Given the description of an element on the screen output the (x, y) to click on. 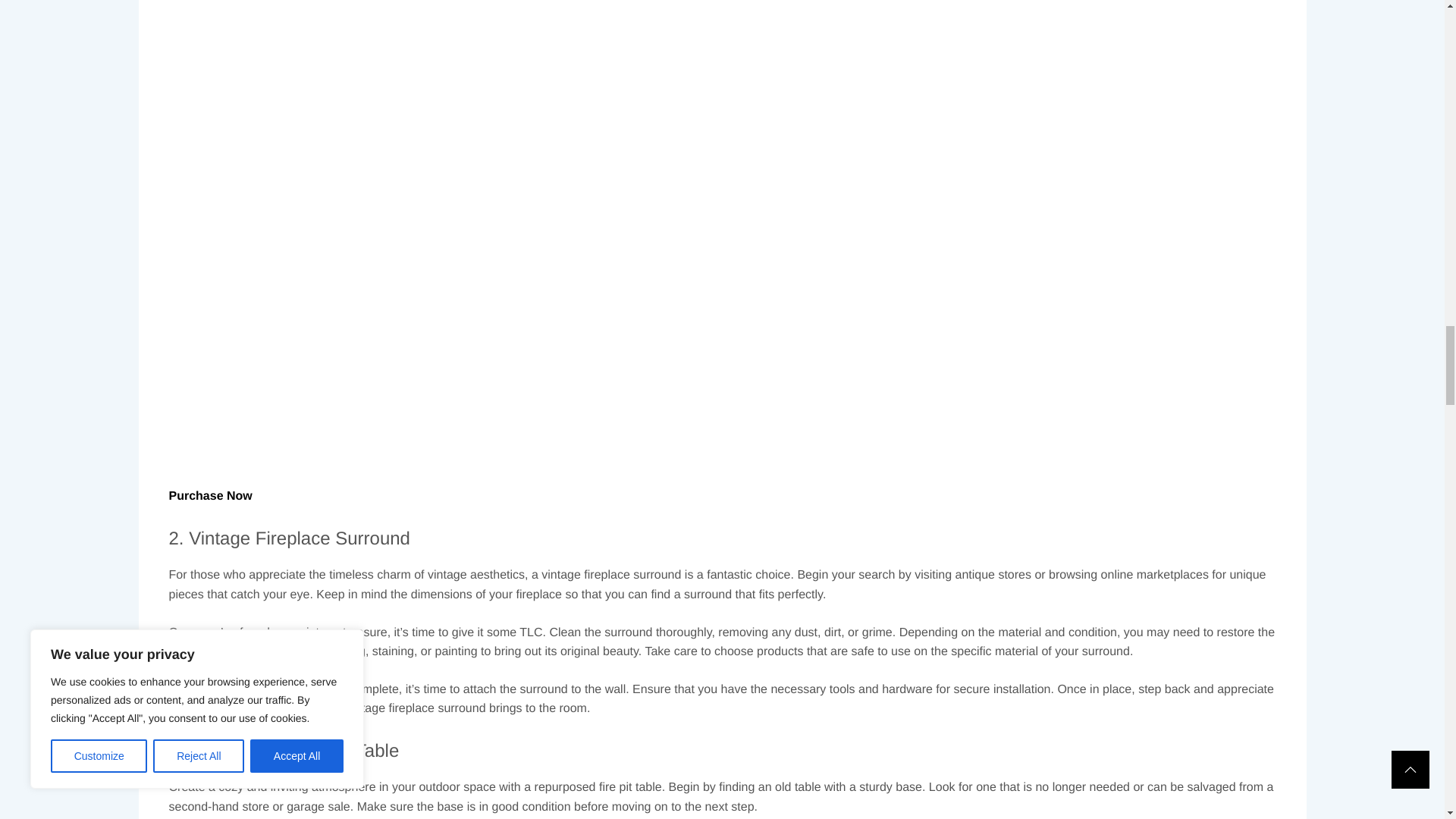
Discover more about the Purchase Now. (209, 459)
